Given the description of an element on the screen output the (x, y) to click on. 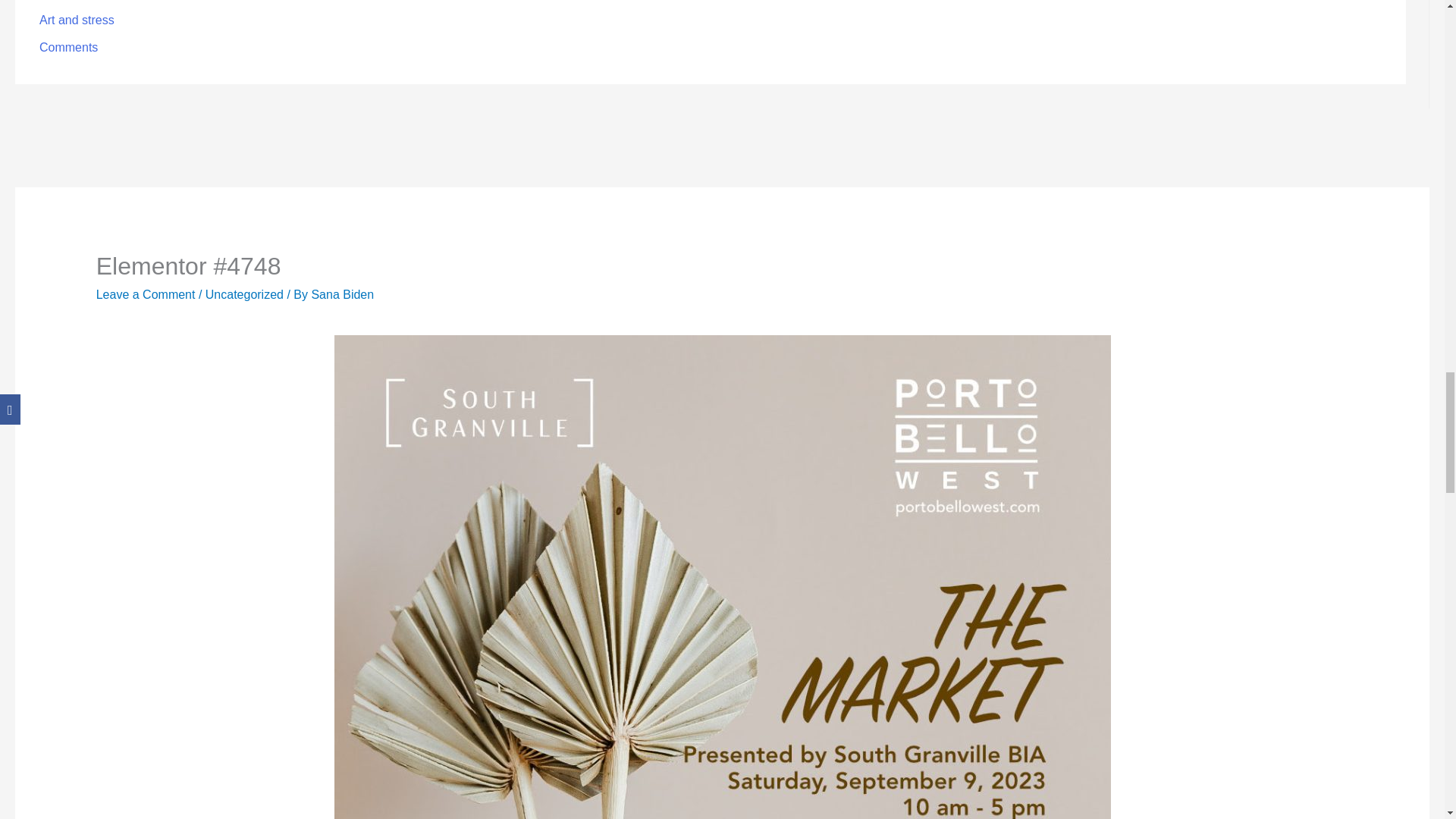
View all posts by Sana Biden (342, 294)
